Given the description of an element on the screen output the (x, y) to click on. 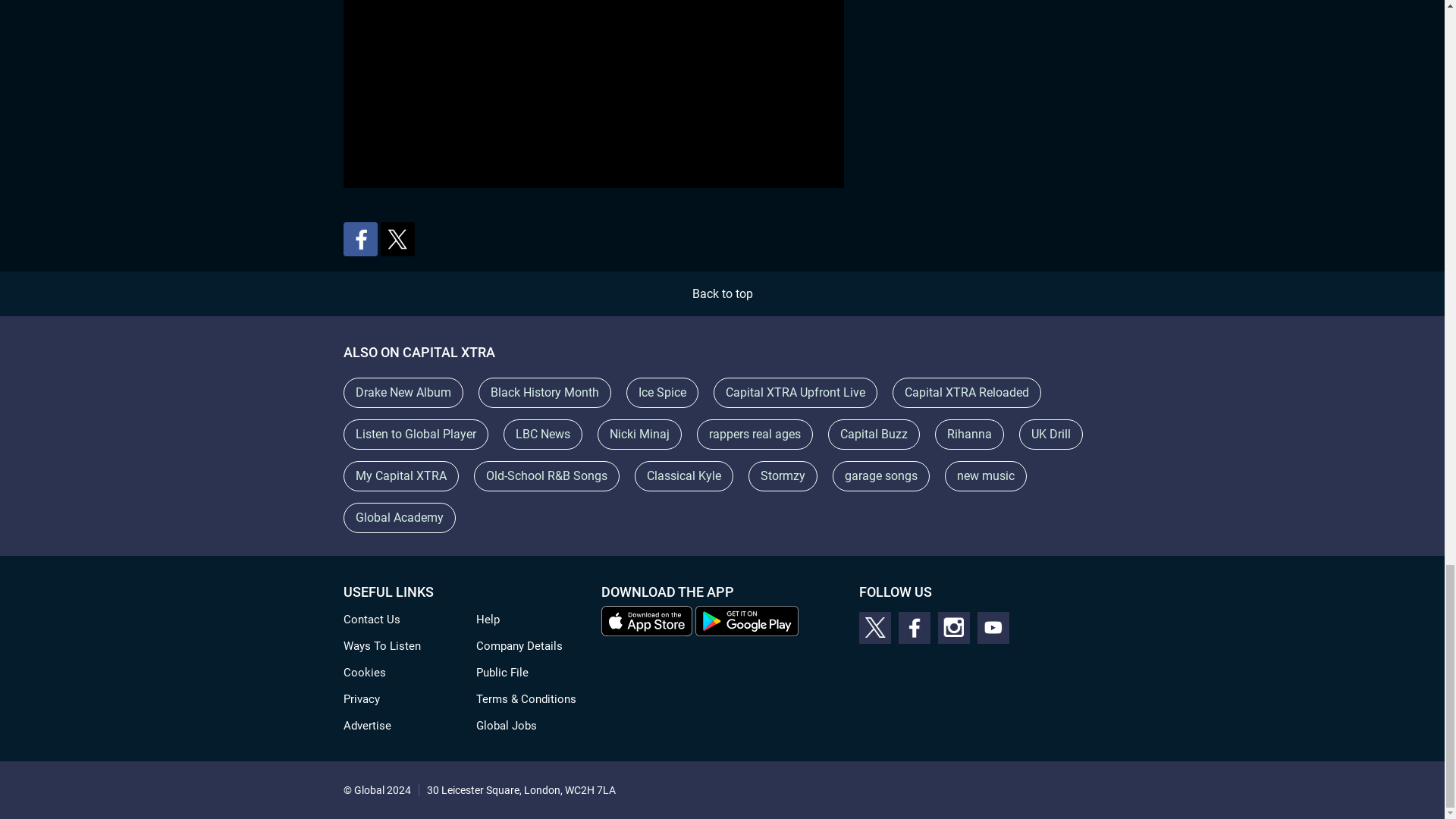
Follow CapitalXtra on X (874, 627)
Follow CapitalXtra on Youtube (992, 627)
Back to top (721, 293)
Drake New Album (402, 392)
Follow CapitalXtra on Instagram (953, 627)
Follow CapitalXtra on Facebook (914, 627)
Back to top (721, 293)
